Given the description of an element on the screen output the (x, y) to click on. 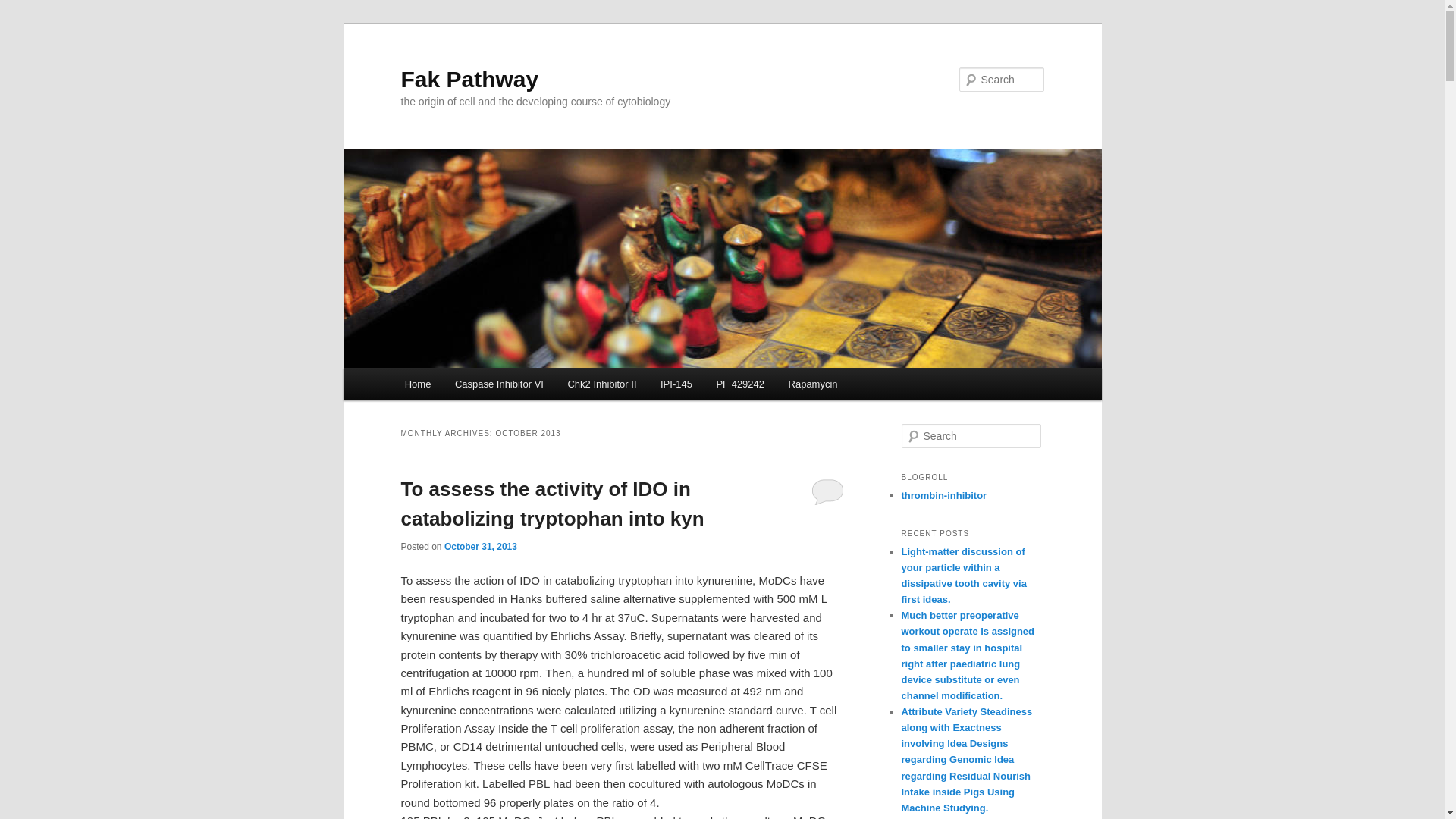
IPI-145 (675, 383)
Fak Pathway (469, 78)
Caspase Inhibitor VI (499, 383)
Skip to primary content (472, 386)
3:24 am (480, 546)
PF 429242 (740, 383)
Rapamycin (813, 383)
Home (417, 383)
Home (417, 383)
Search (24, 8)
Skip to primary content (472, 386)
Chk2 Inhibitor II (602, 383)
